Given the description of an element on the screen output the (x, y) to click on. 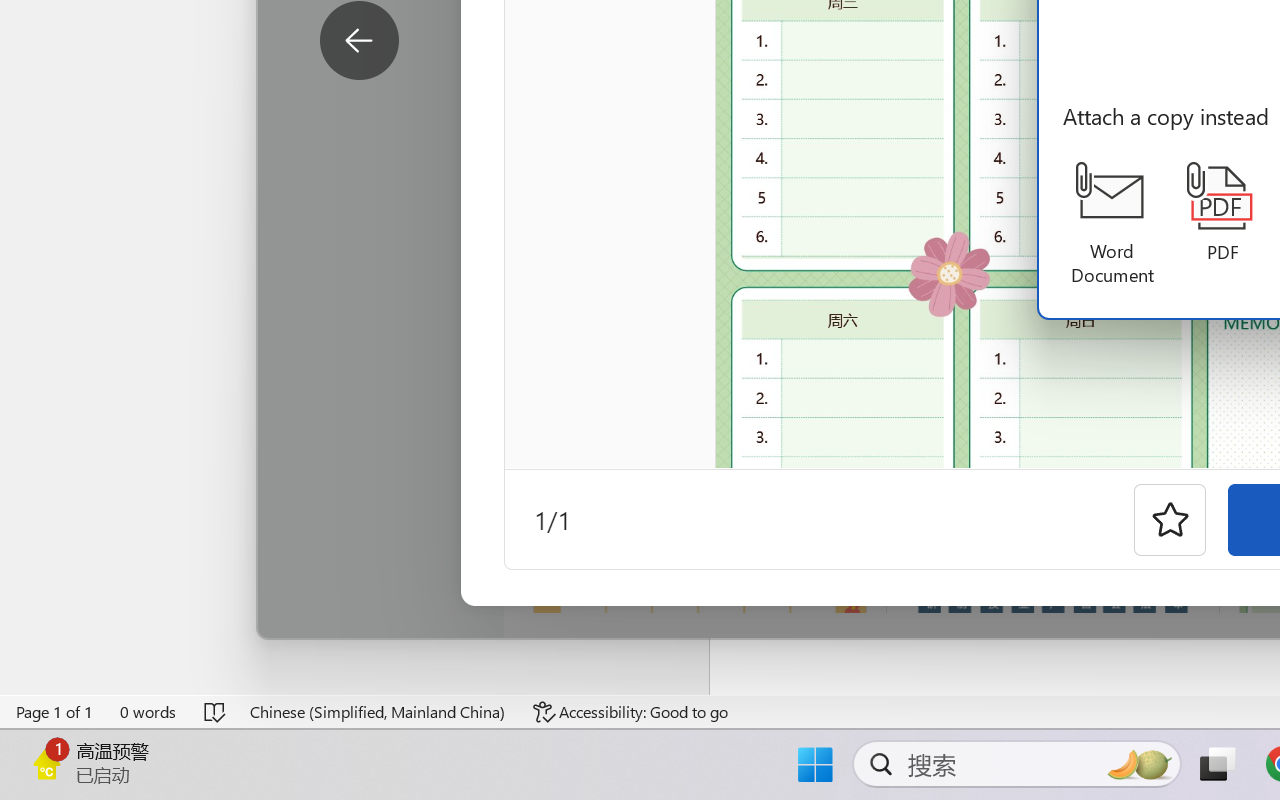
Language Chinese (Simplified, Mainland China) (378, 712)
Word Document (1112, 224)
PDF (1222, 213)
